Given the description of an element on the screen output the (x, y) to click on. 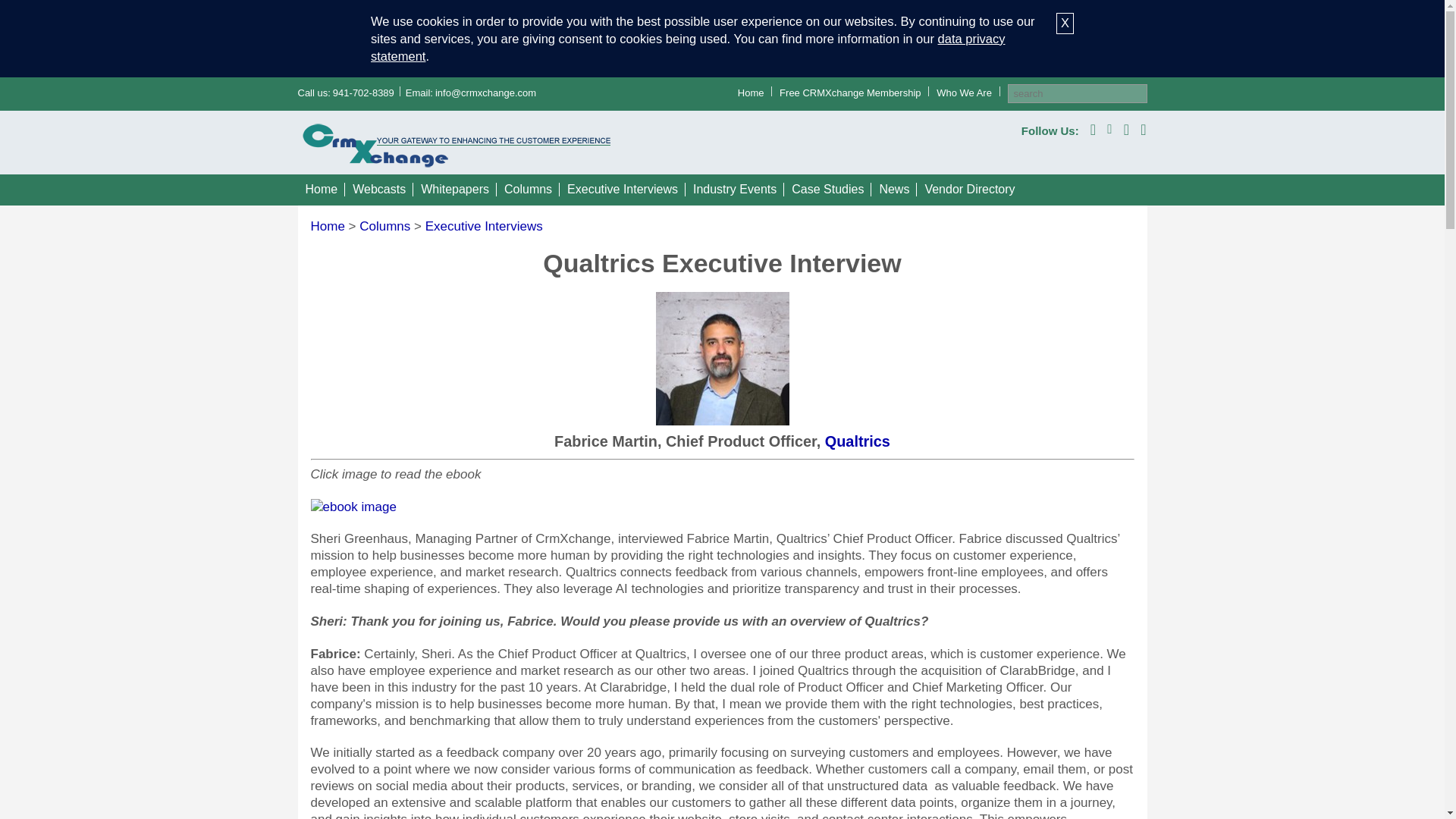
Vendor Directory (969, 189)
Webcasts (379, 189)
data privacy statement (688, 47)
Whitepapers (454, 189)
Industry Events (734, 189)
News (893, 189)
ebook image (353, 506)
Home (751, 92)
Who We Are (963, 92)
Columns (527, 189)
